Given the description of an element on the screen output the (x, y) to click on. 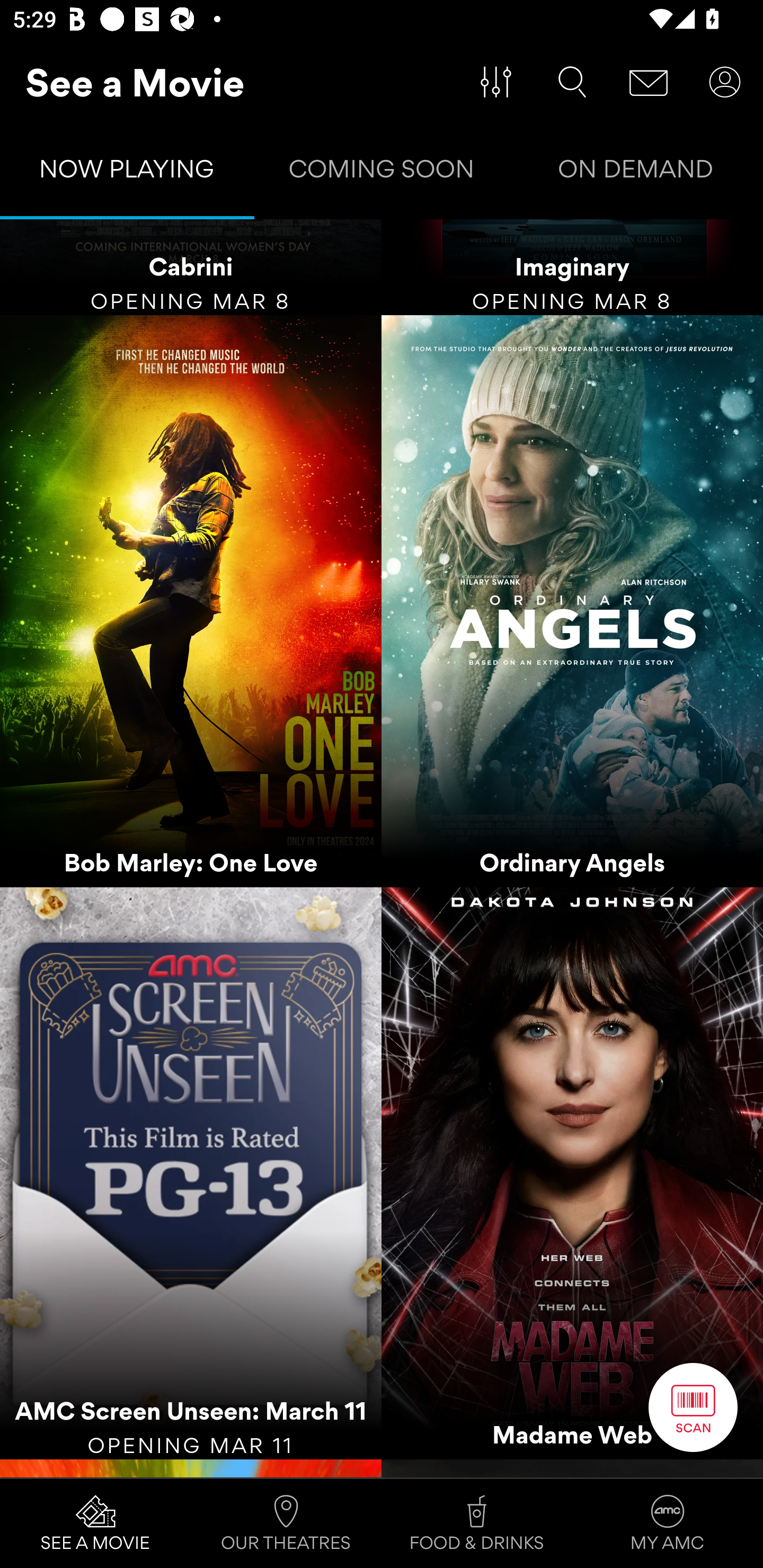
Filter Movies (495, 82)
Search (572, 82)
Message Center (648, 82)
User Account (724, 82)
NOW PLAYING
Tab 1 of 3 (127, 173)
COMING SOON
Tab 2 of 3 (381, 173)
ON DEMAND
Tab 3 of 3 (635, 173)
Cabrini
OPENING MAR 8 (190, 267)
Imaginary
OPENING MAR 8 (572, 267)
Bob Marley: One Love (190, 601)
Ordinary Angels (572, 601)
AMC Screen Unseen: March 11
OPENING MAR 11 (190, 1173)
Madame Web (572, 1173)
Scan Button (692, 1406)
SEE A MOVIE
Tab 1 of 4 (95, 1523)
OUR THEATRES
Tab 2 of 4 (285, 1523)
FOOD & DRINKS
Tab 3 of 4 (476, 1523)
MY AMC
Tab 4 of 4 (667, 1523)
